Given the description of an element on the screen output the (x, y) to click on. 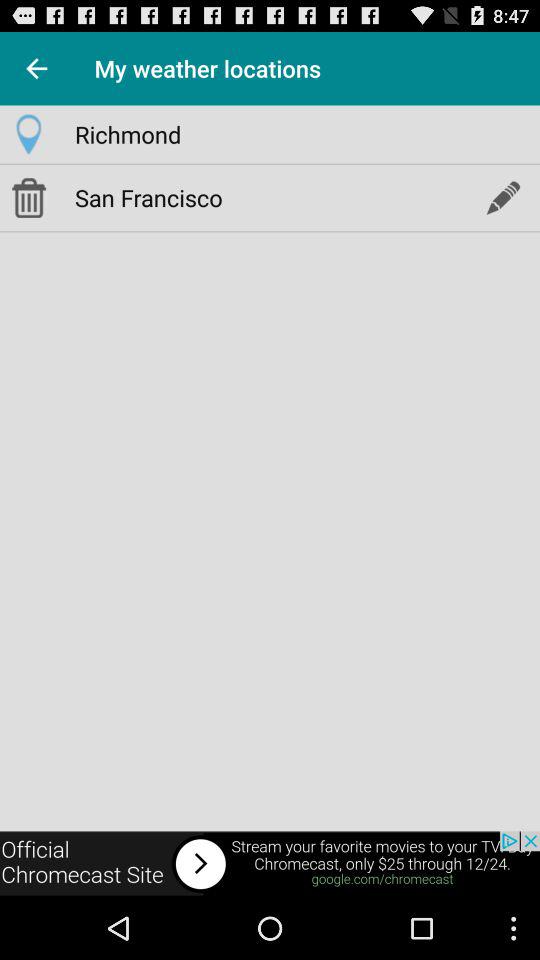
delete location (28, 197)
